Given the description of an element on the screen output the (x, y) to click on. 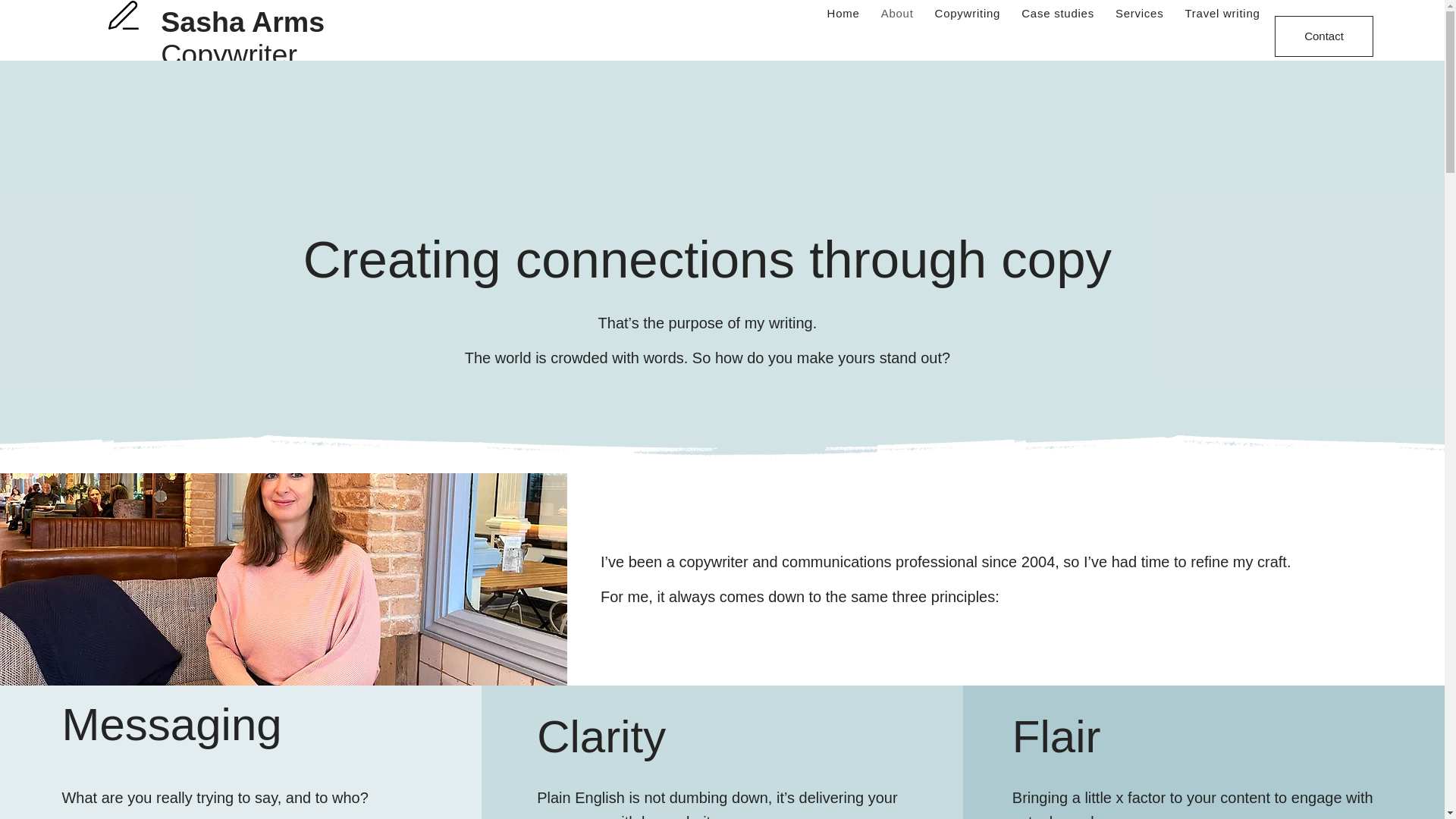
Copywriting (968, 13)
Services (1140, 13)
Case studies (1057, 13)
Contact (1324, 36)
Travel writing (1221, 13)
About (897, 13)
Home (843, 13)
